Given the description of an element on the screen output the (x, y) to click on. 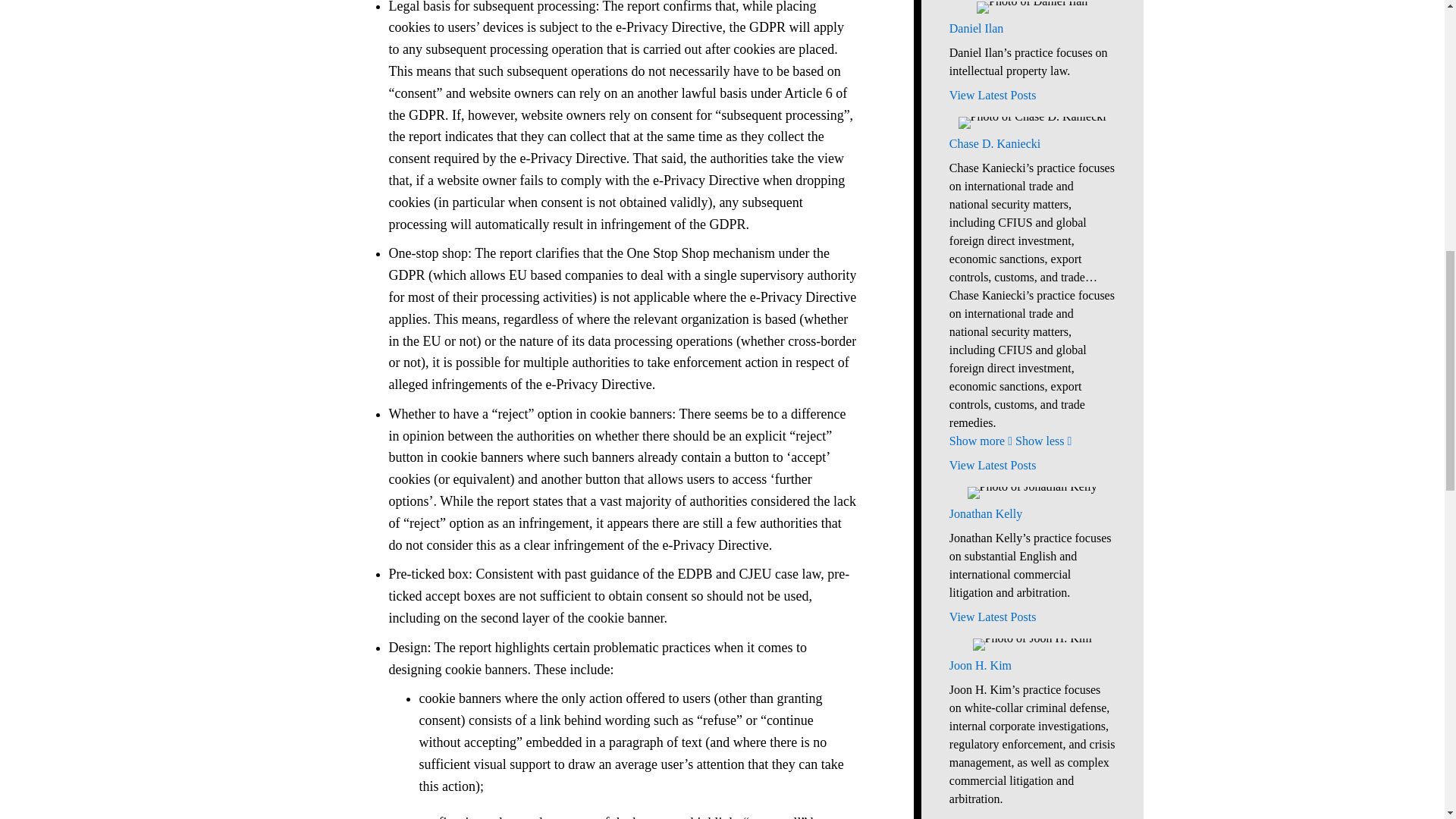
View Latest Posts (1032, 617)
Joon H. Kim (1032, 665)
View Latest Posts (1032, 465)
View Latest Posts (1032, 95)
Show more (980, 440)
Show less (1042, 440)
Daniel Ilan (1032, 28)
Chase D. Kaniecki (1032, 144)
Jonathan Kelly (1032, 514)
